Given the description of an element on the screen output the (x, y) to click on. 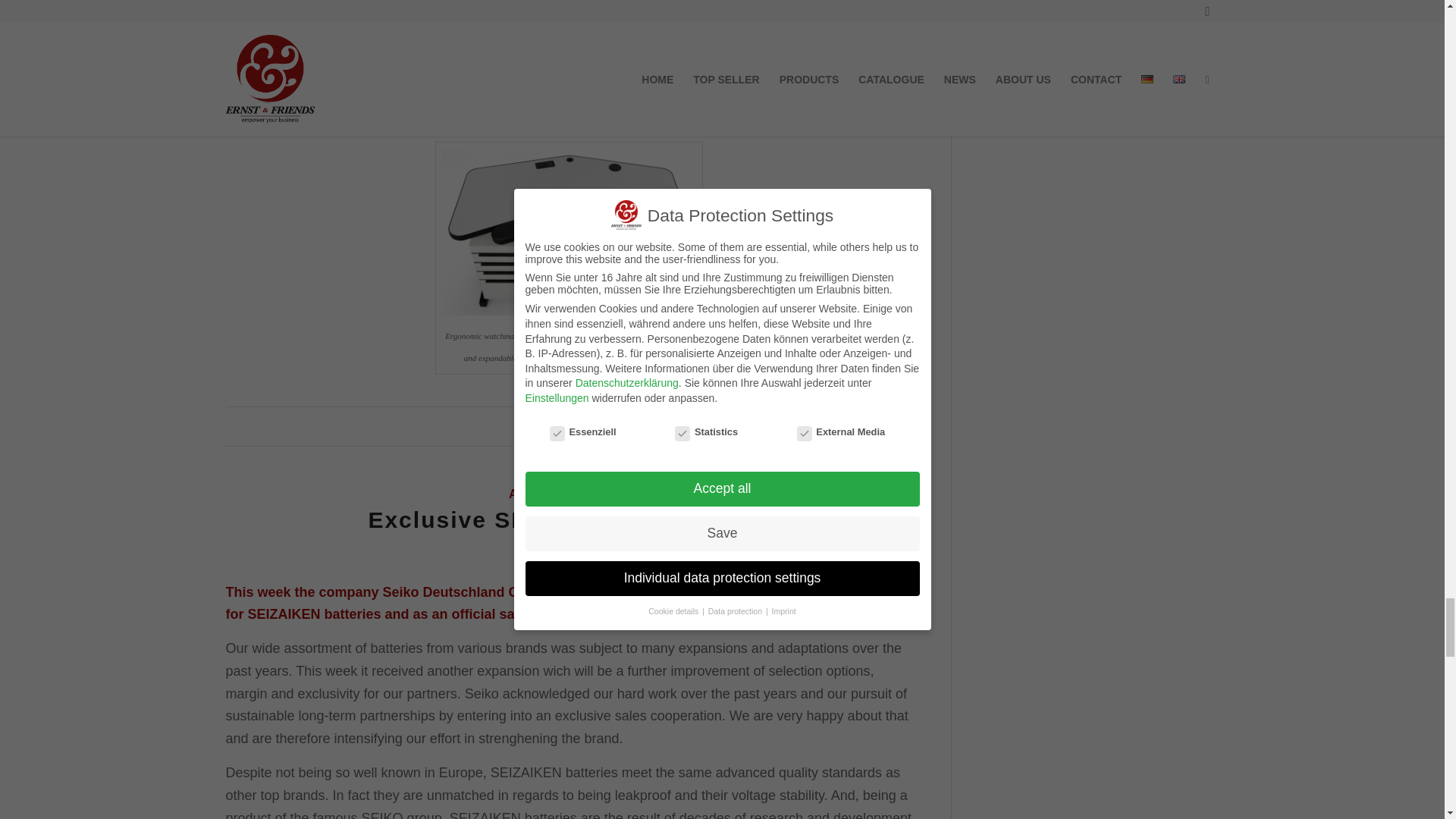
Permanent Link: Exclusive SEIZAIKEN Distributor (569, 519)
